Given the description of an element on the screen output the (x, y) to click on. 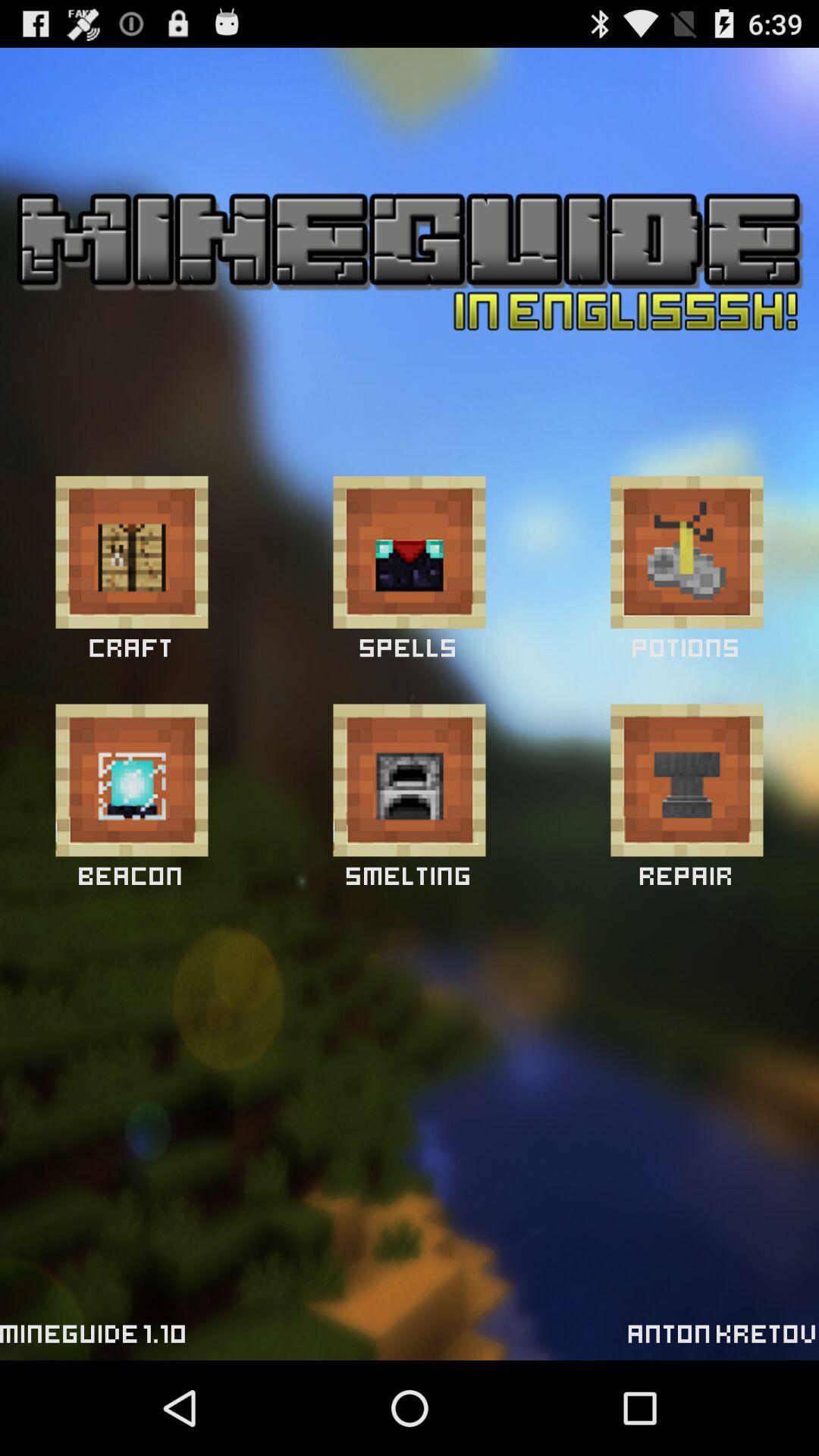
turn off icon above craft item (131, 552)
